Given the description of an element on the screen output the (x, y) to click on. 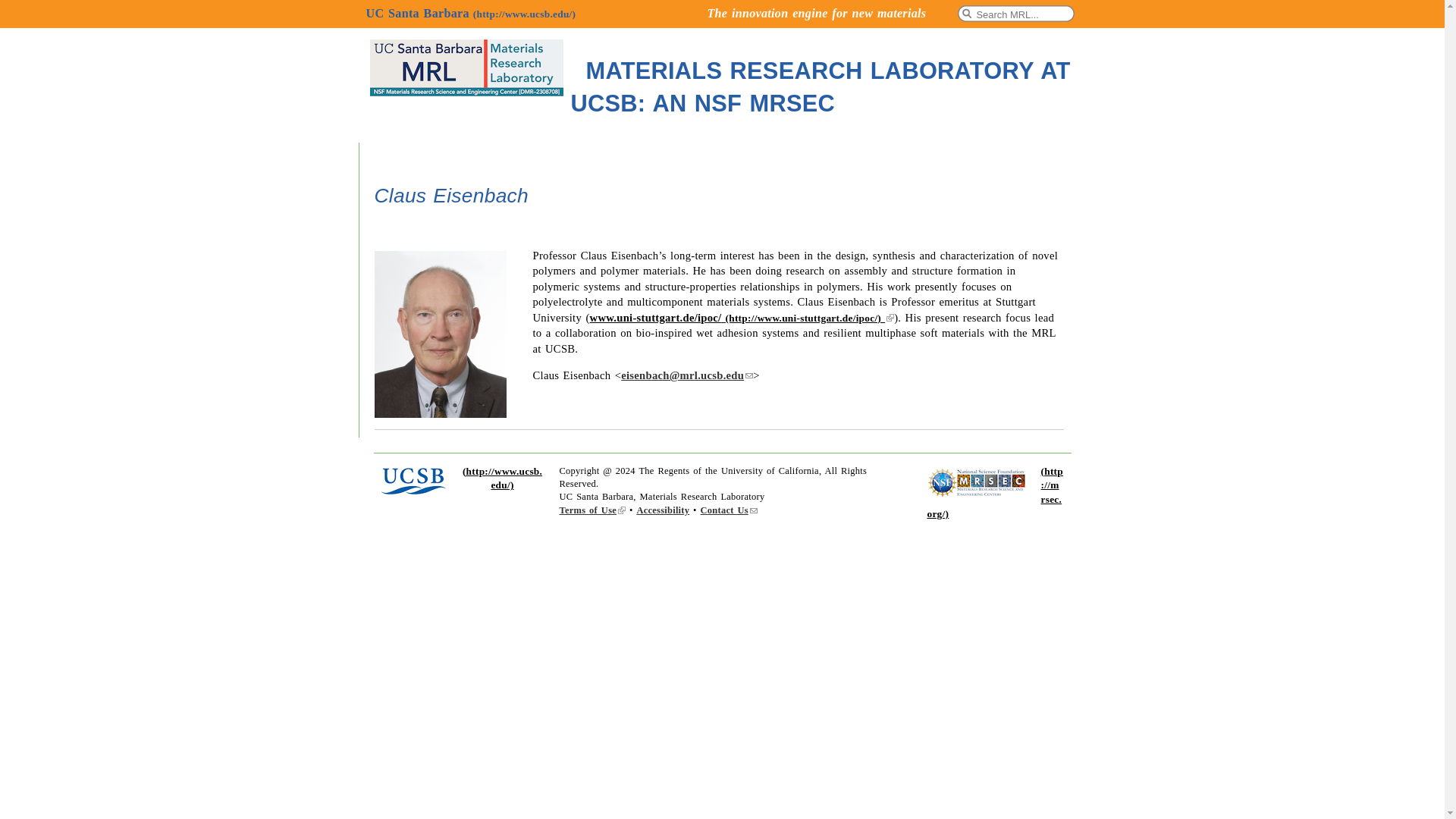
Home page (469, 69)
MATERIALS RESEARCH LABORATORY AT UCSB: AN NSF MRSEC (820, 87)
UC Santa Barbara (470, 12)
Enter the terms you wish to search for. (1017, 14)
Home page (820, 87)
